Given the description of an element on the screen output the (x, y) to click on. 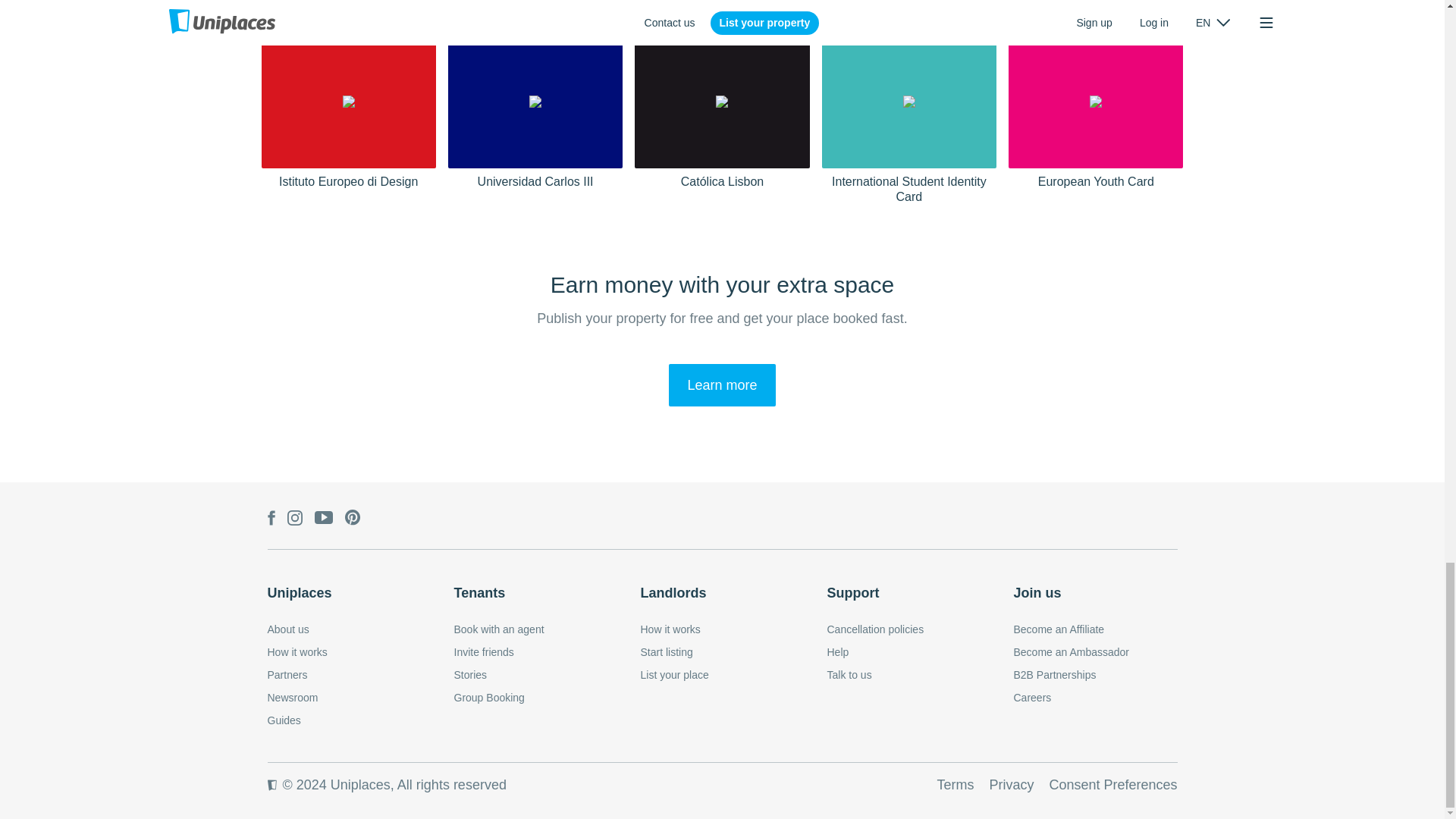
Book with an agent (497, 629)
Start listing (666, 652)
Guides (282, 719)
Learn more (721, 384)
Stories (469, 674)
How it works (296, 652)
Youtube (322, 518)
Cancellation policies (875, 629)
List your place (673, 674)
Invite friends (482, 652)
